Given the description of an element on the screen output the (x, y) to click on. 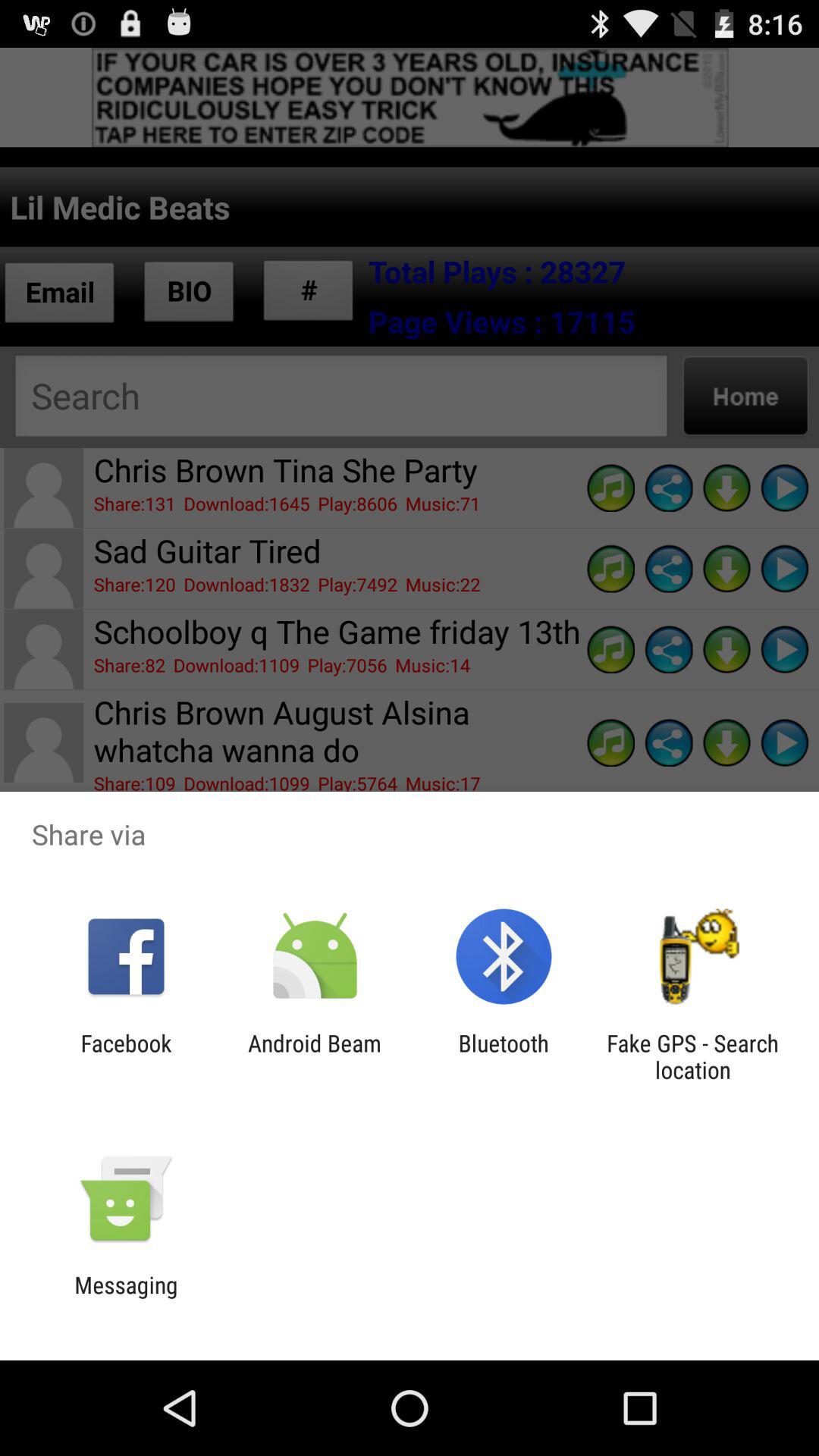
tap the fake gps search icon (692, 1056)
